Given the description of an element on the screen output the (x, y) to click on. 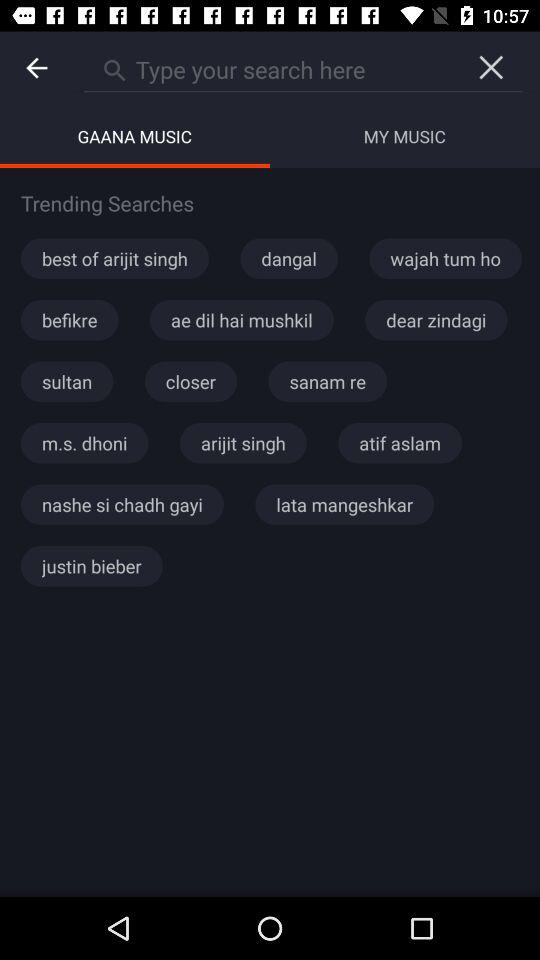
select item next to the sanam re icon (190, 381)
